Given the description of an element on the screen output the (x, y) to click on. 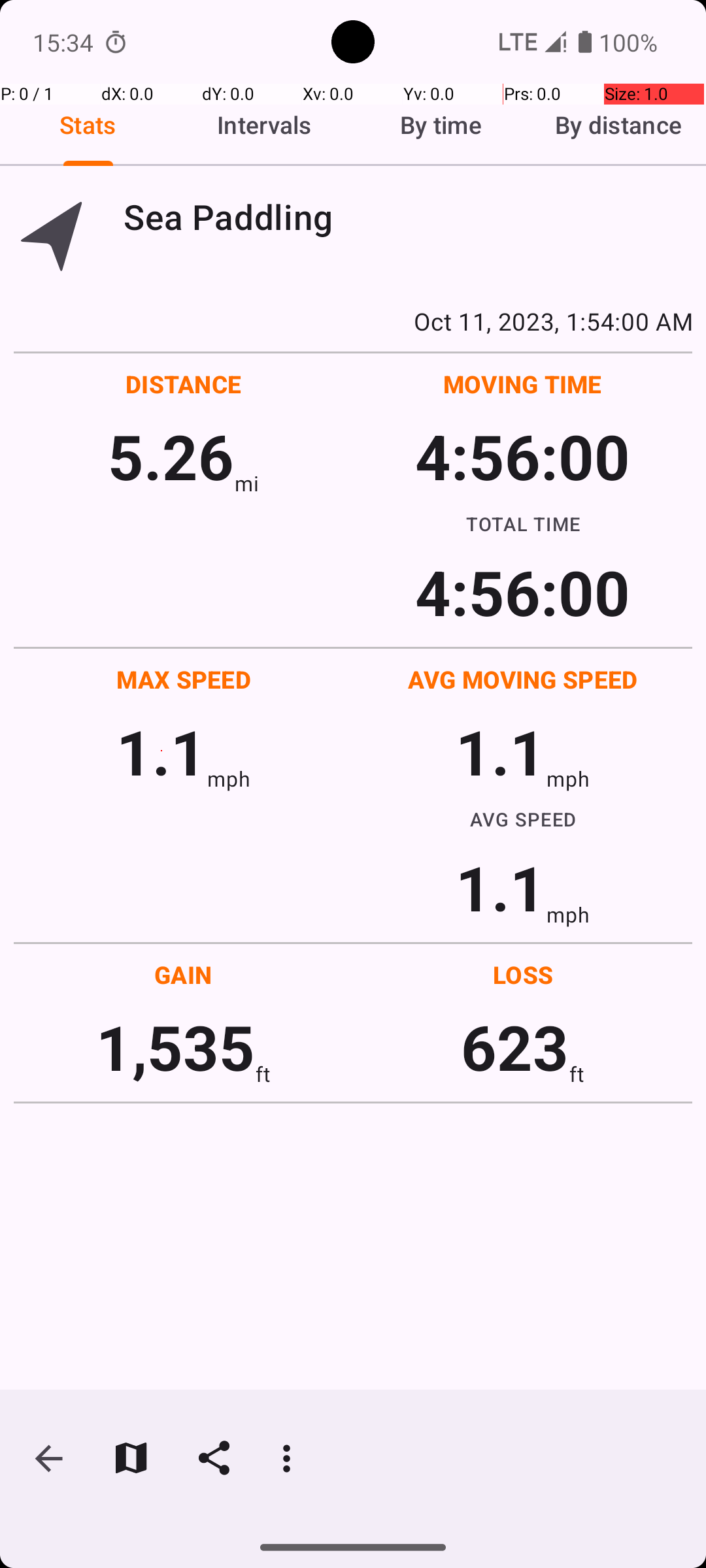
Sea Paddling Element type: android.widget.TextView (407, 216)
Oct 11, 2023, 1:54:00 AM Element type: android.widget.TextView (352, 320)
5.26 Element type: android.widget.TextView (170, 455)
4:56:00 Element type: android.widget.TextView (522, 455)
1.1 Element type: android.widget.TextView (161, 750)
1,535 Element type: android.widget.TextView (175, 1045)
623 Element type: android.widget.TextView (514, 1045)
